Given the description of an element on the screen output the (x, y) to click on. 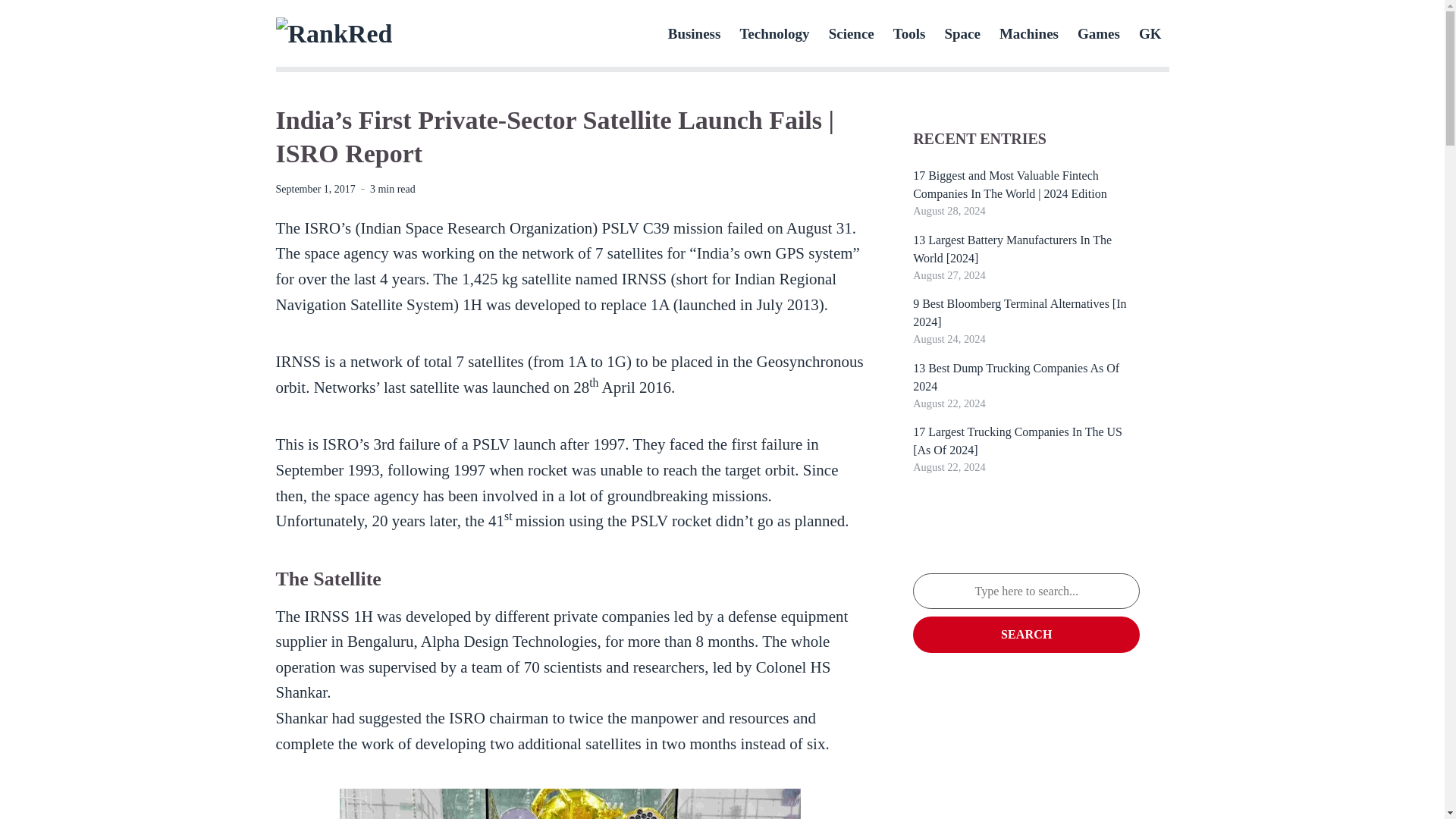
Games (1098, 33)
SEARCH (1026, 634)
Science (851, 33)
Space (961, 33)
Machines (1028, 33)
Tools (909, 33)
Technology (774, 33)
Business (694, 33)
13 Best Dump Trucking Companies As Of 2024 (1015, 377)
